Given the description of an element on the screen output the (x, y) to click on. 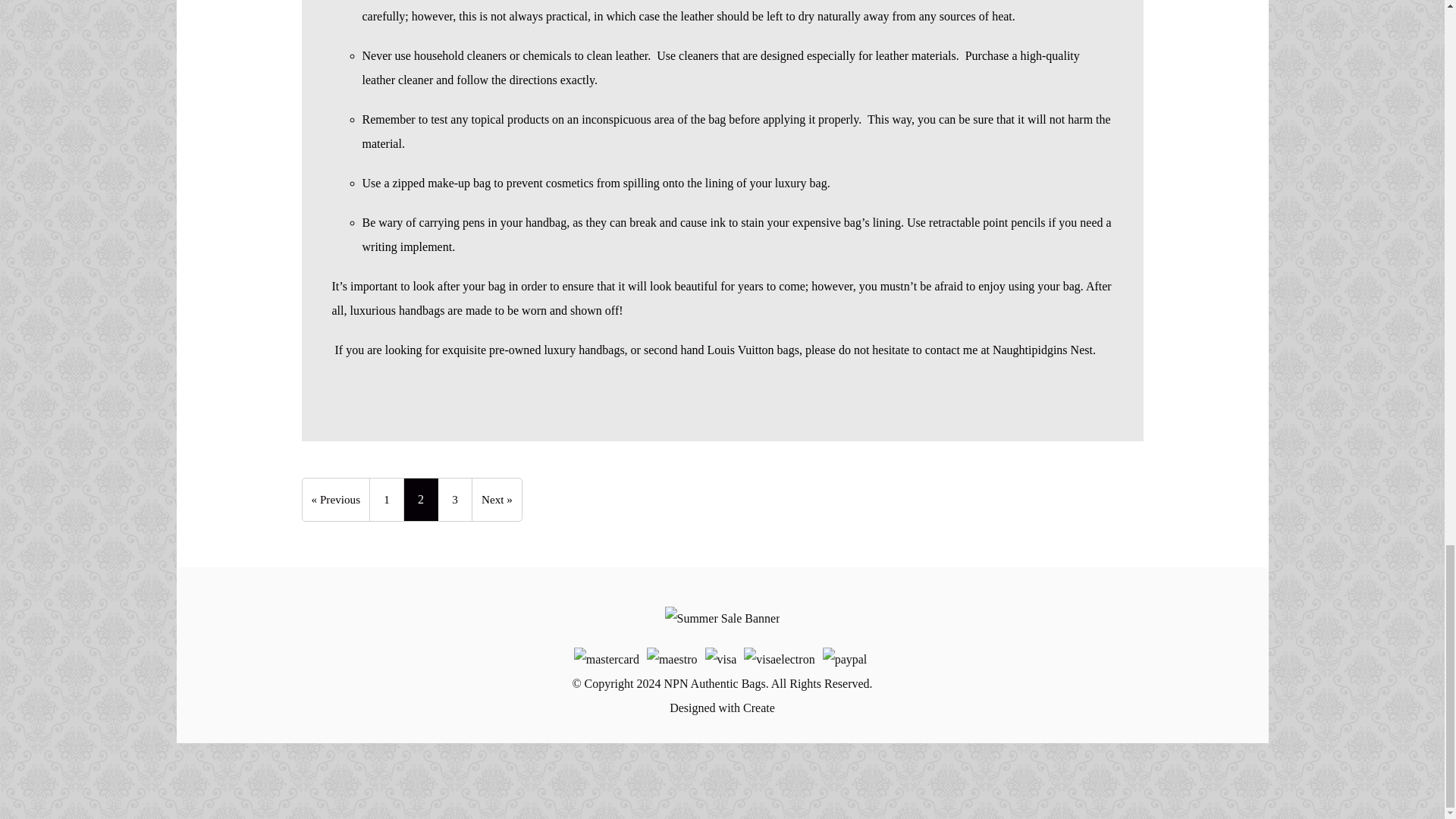
Summer Sale Banner (722, 618)
